Given the description of an element on the screen output the (x, y) to click on. 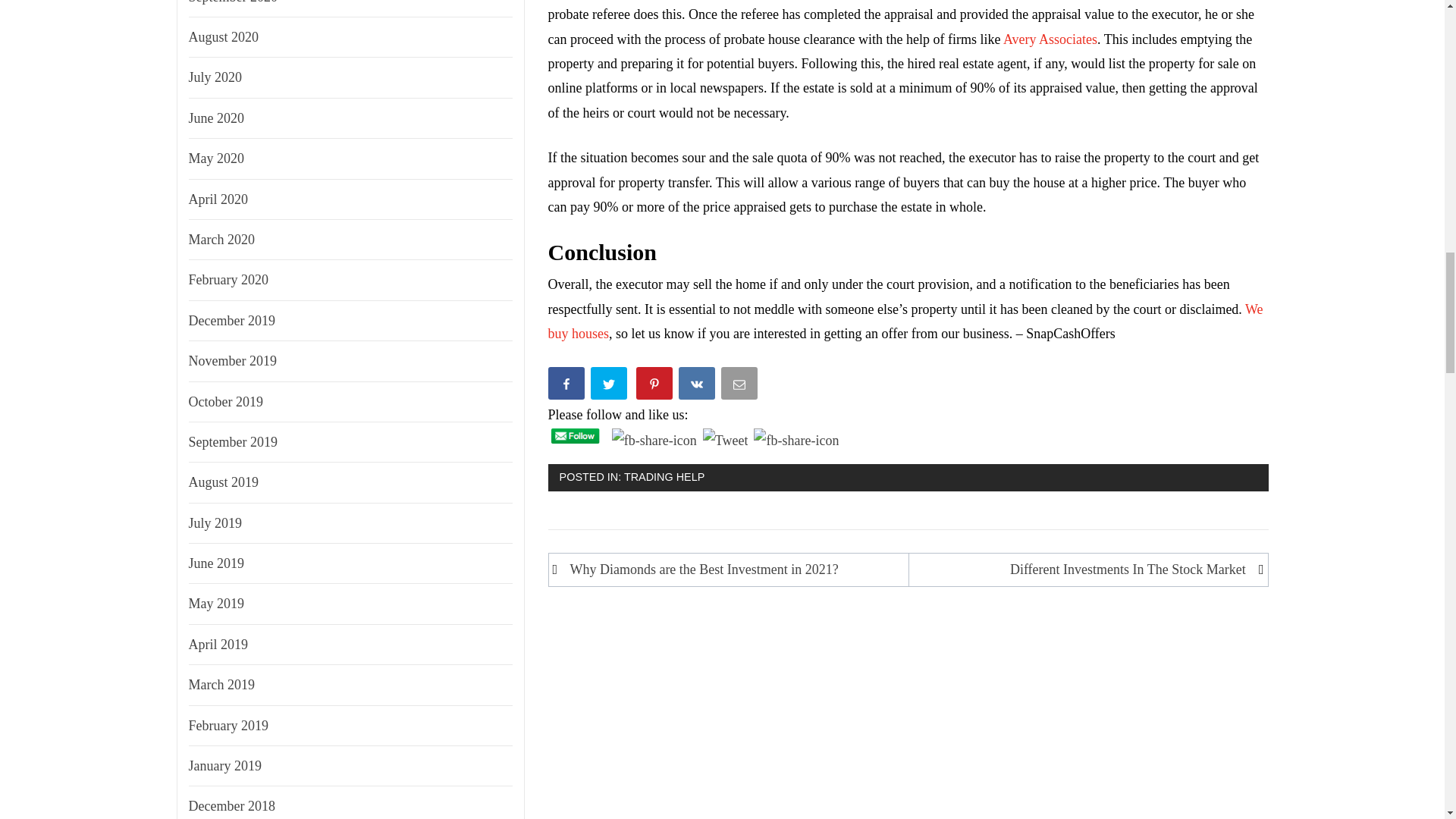
Tweet (725, 440)
Share it (697, 385)
Pin Share (796, 440)
Facebook Share (654, 440)
Avery Associates (1050, 38)
Share on Facebook (568, 385)
We buy houses (905, 321)
Tweet (610, 385)
Email (740, 385)
Pin (655, 385)
